Given the description of an element on the screen output the (x, y) to click on. 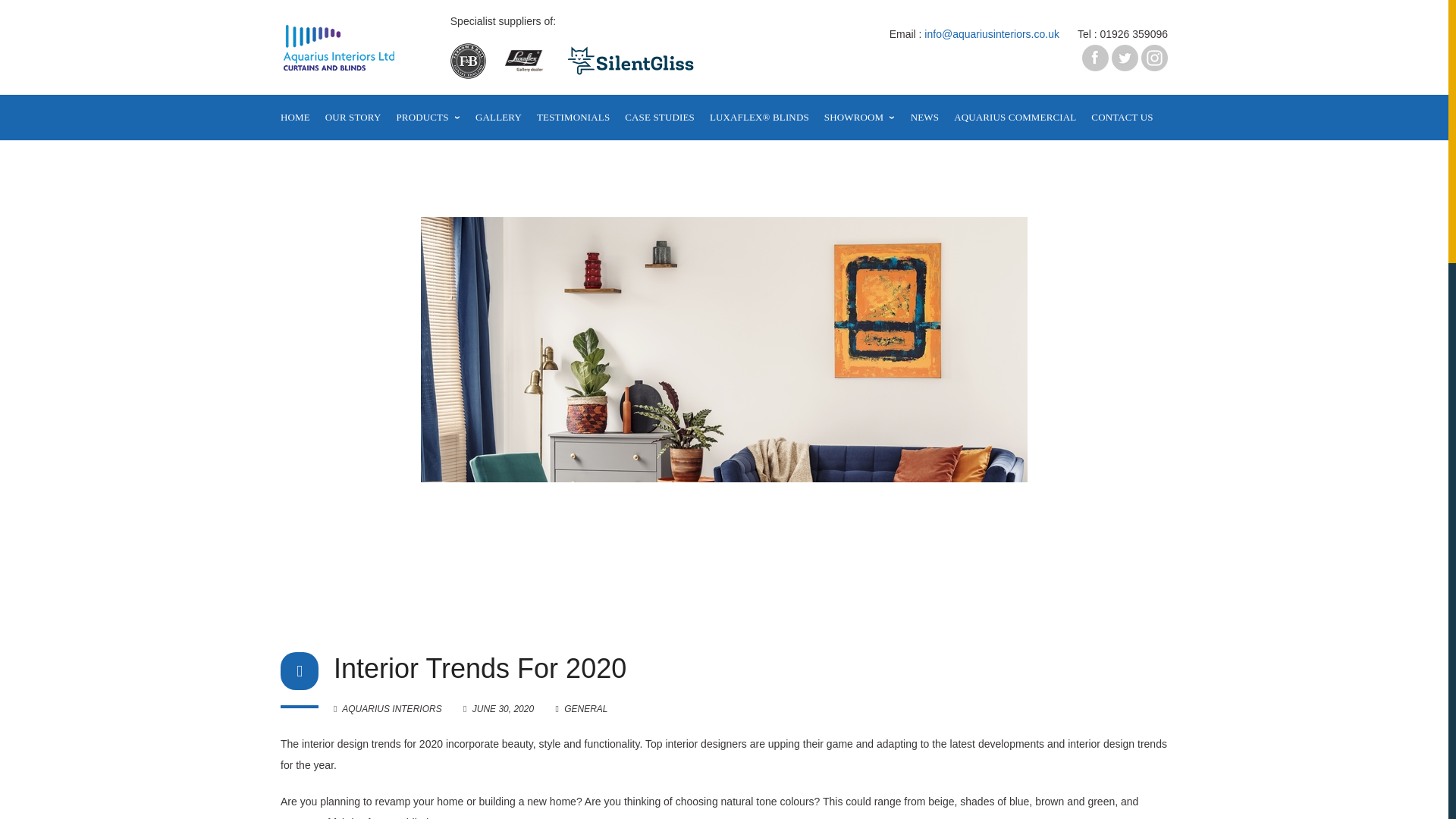
AQUARIUS COMMERCIAL (1014, 117)
Aquarius Interiors -  (340, 60)
Interior Trends For 2020 (499, 708)
Interior Trends For 2020 (479, 667)
GENERAL (585, 708)
PRODUCTS (428, 117)
AQUARIUS INTERIORS (387, 708)
GALLERY (498, 117)
TESTIMONIALS (573, 117)
CONTACT US (1121, 117)
